Given the description of an element on the screen output the (x, y) to click on. 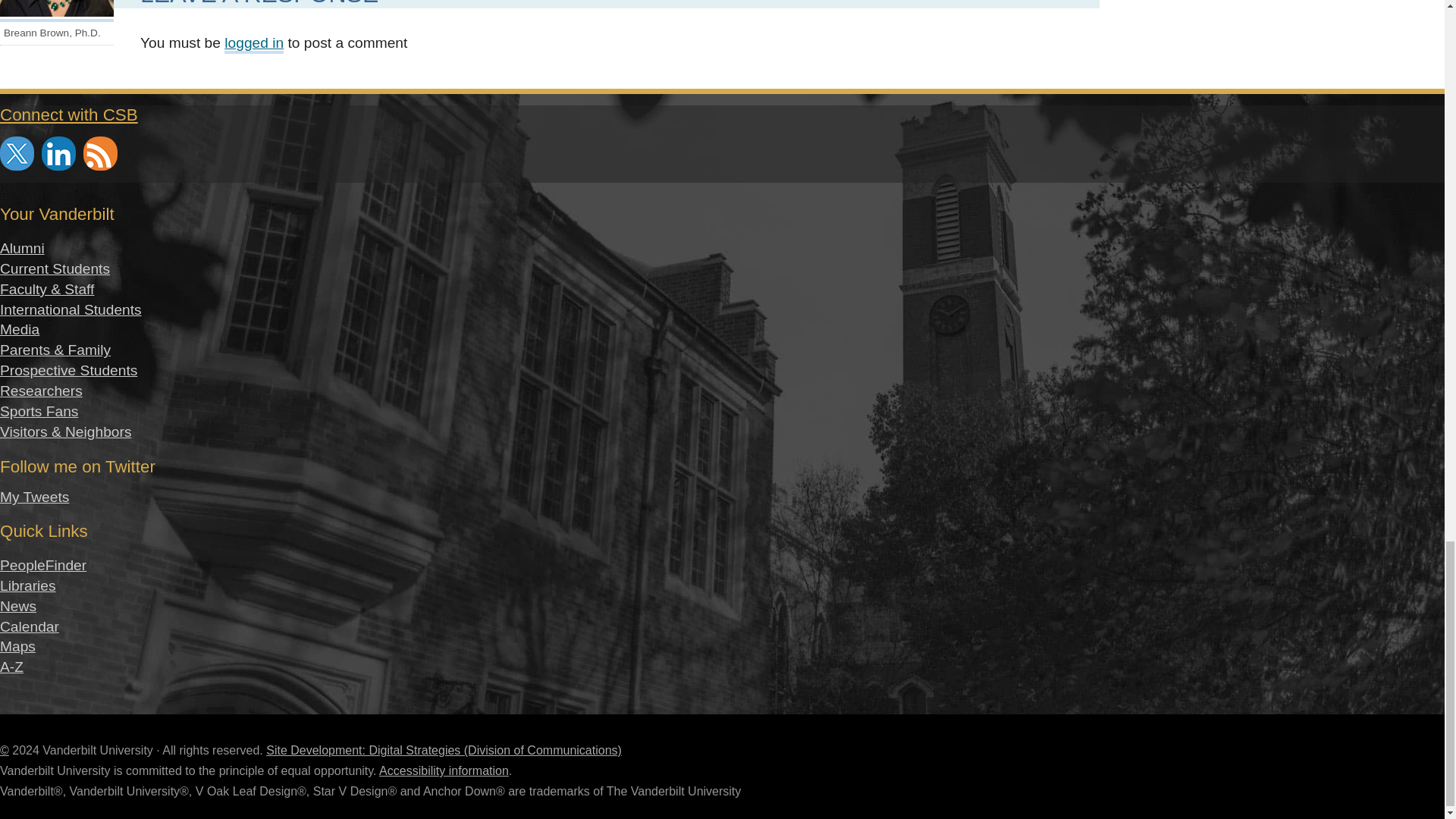
Subscribe to RSS feed (99, 153)
follow us on twitter (16, 153)
follow us on linkedin (58, 153)
